Given the description of an element on the screen output the (x, y) to click on. 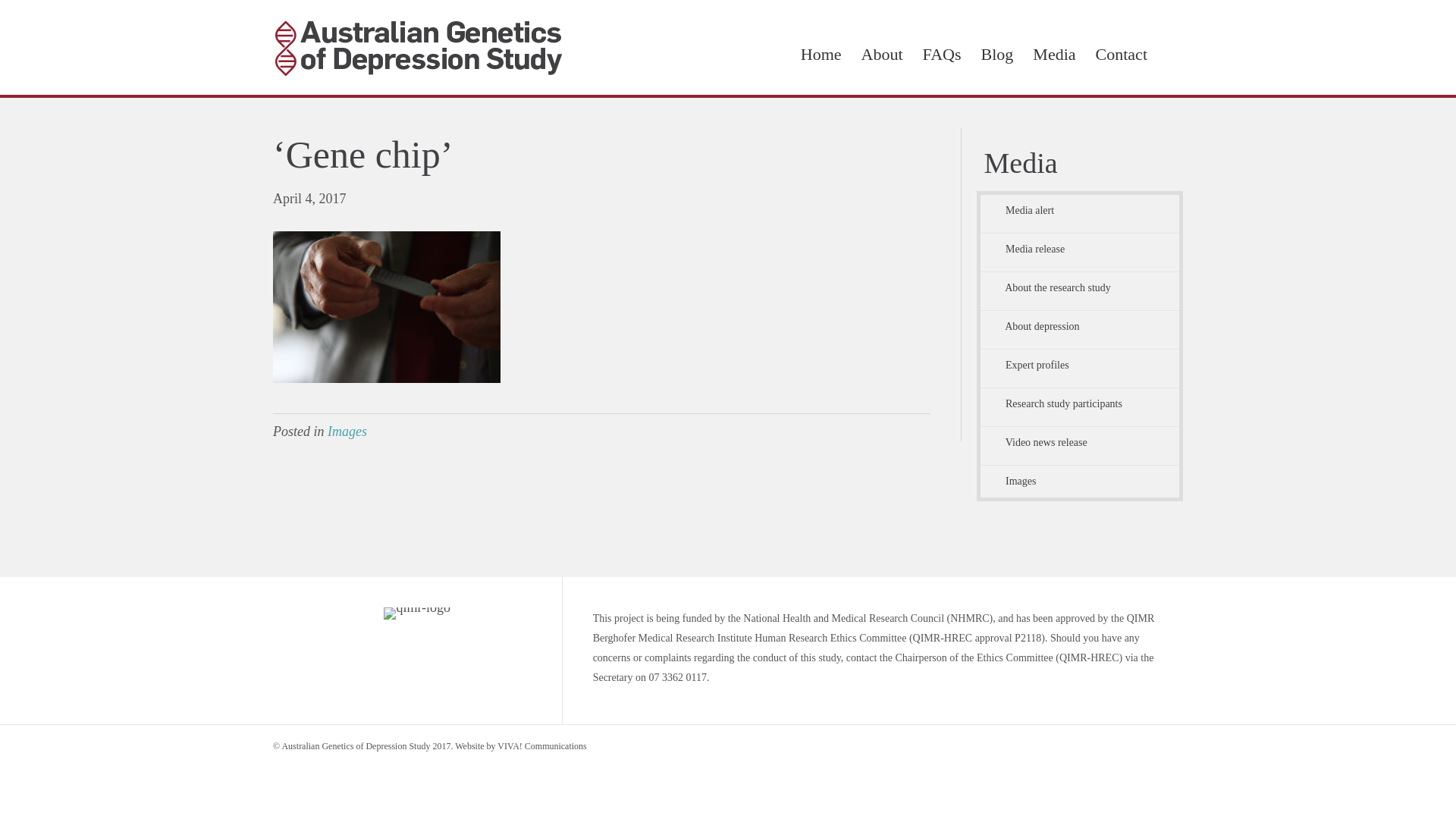
About the research study Element type: text (1079, 288)
Images Element type: text (347, 431)
Media Element type: text (1053, 54)
Images Element type: text (1079, 481)
About depression Element type: text (1079, 326)
VIVA! Communications Element type: text (541, 745)
FAQs Element type: text (942, 54)
Blog Element type: text (997, 54)
Media alert Element type: text (1079, 210)
Research study participants Element type: text (1079, 404)
Contact Element type: text (1121, 54)
Video news release Element type: text (1079, 442)
Home Element type: text (820, 54)
Media release Element type: text (1079, 249)
About Element type: text (882, 54)
Expert profiles Element type: text (1079, 365)
